Given the description of an element on the screen output the (x, y) to click on. 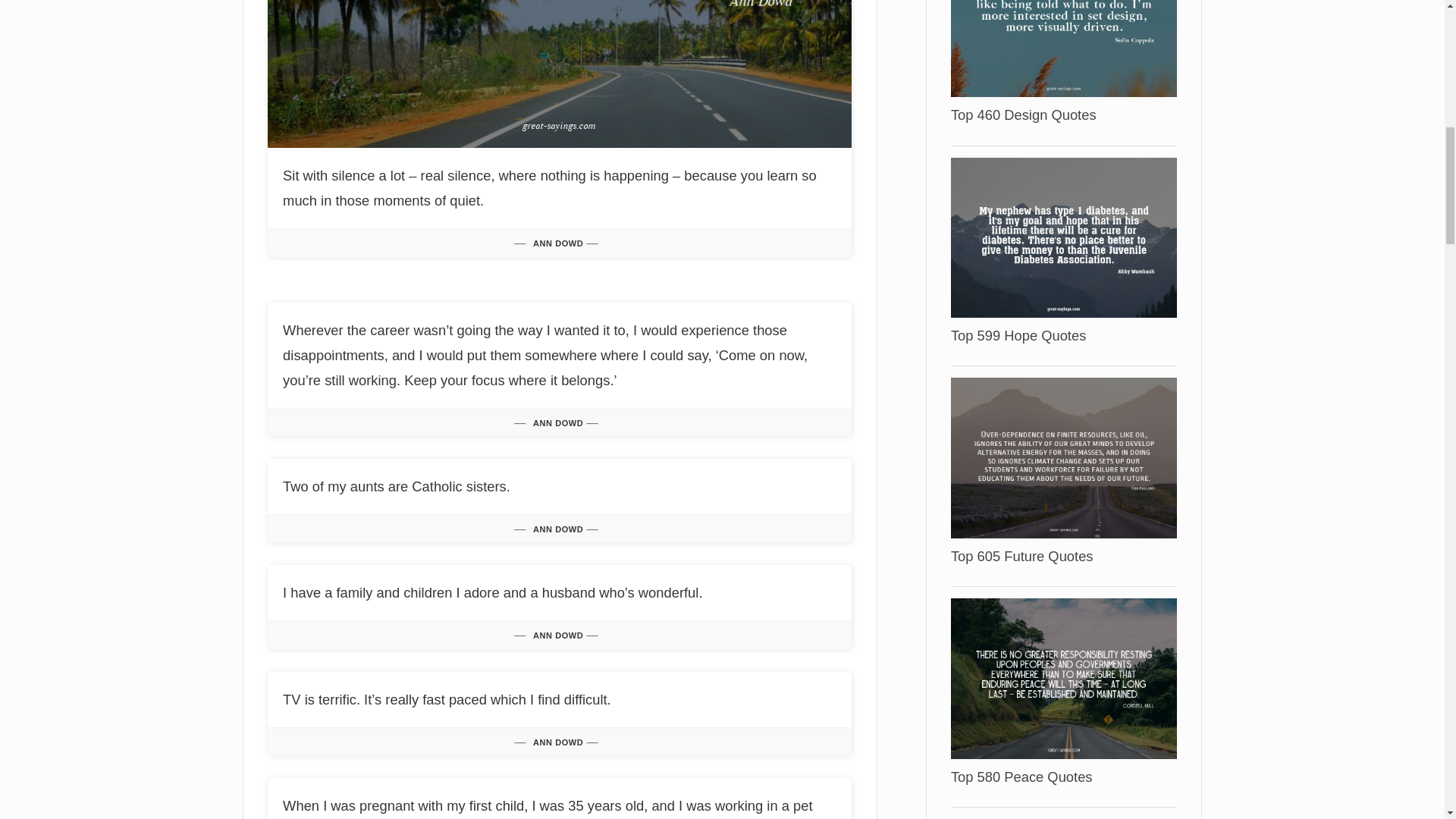
Top 580 Peace Quotes (1021, 776)
Top 460 Design Quotes (1023, 114)
Top 605 Future Quotes (1021, 555)
Top 605 Future Quotes (1063, 457)
Top 605 Future Quotes (1021, 555)
Top 599 Hope Quotes (1018, 335)
Top 580 Peace Quotes (1063, 676)
Top 599 Hope Quotes (1063, 236)
Top 599 Hope Quotes (1018, 335)
Top 580 Peace Quotes (1021, 776)
Top 460 Design Quotes (1063, 15)
